Given the description of an element on the screen output the (x, y) to click on. 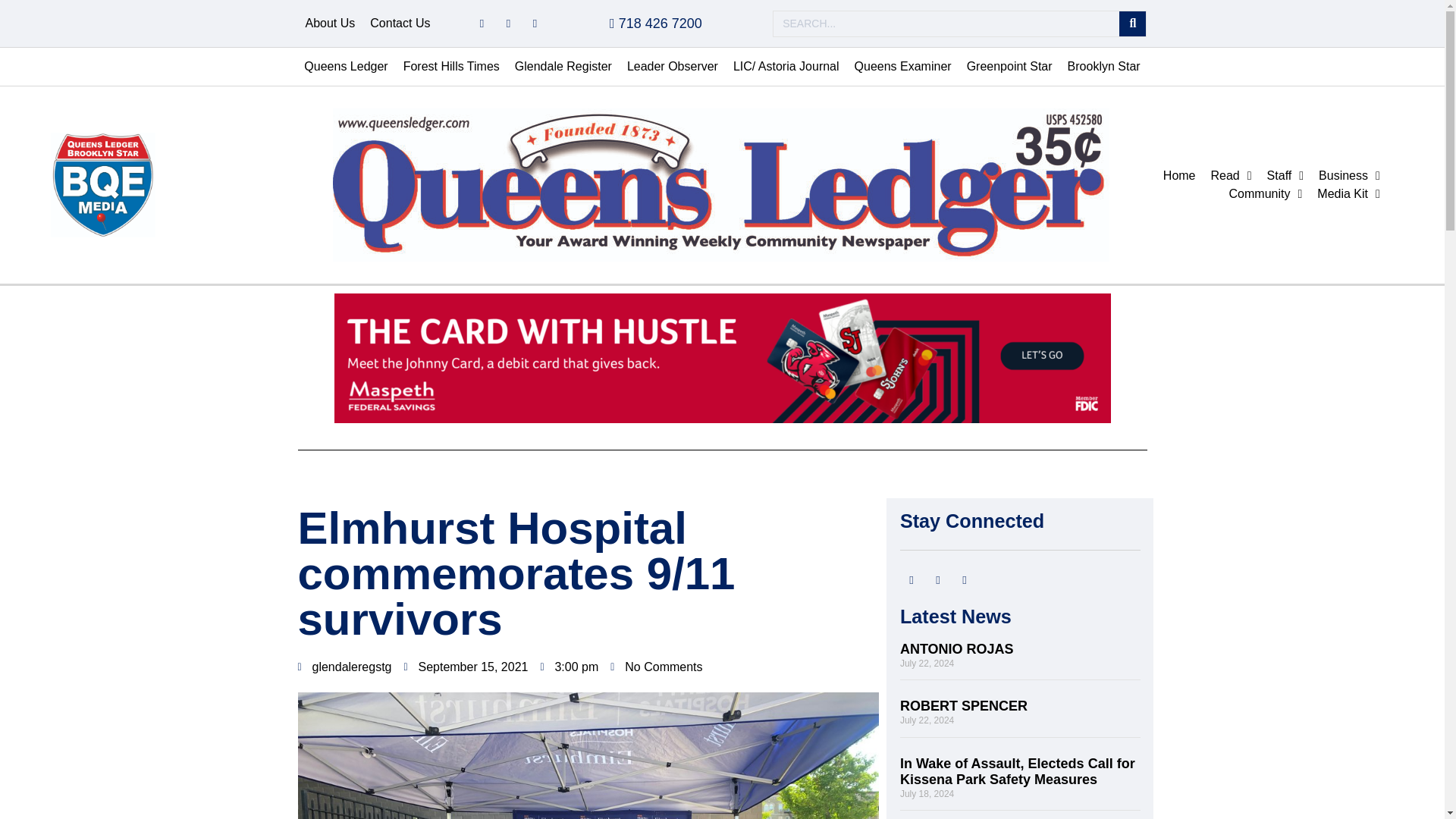
Queens Ledger (345, 66)
Contact Us (400, 23)
Queens Examiner (903, 66)
Brooklyn Star (1103, 66)
About Us (329, 23)
Leader Observer (672, 66)
Home (1180, 176)
Read (1231, 176)
Glendale Register (563, 66)
Greenpoint Star (1009, 66)
718 426 7200 (655, 23)
Forest Hills Times (451, 66)
